Given the description of an element on the screen output the (x, y) to click on. 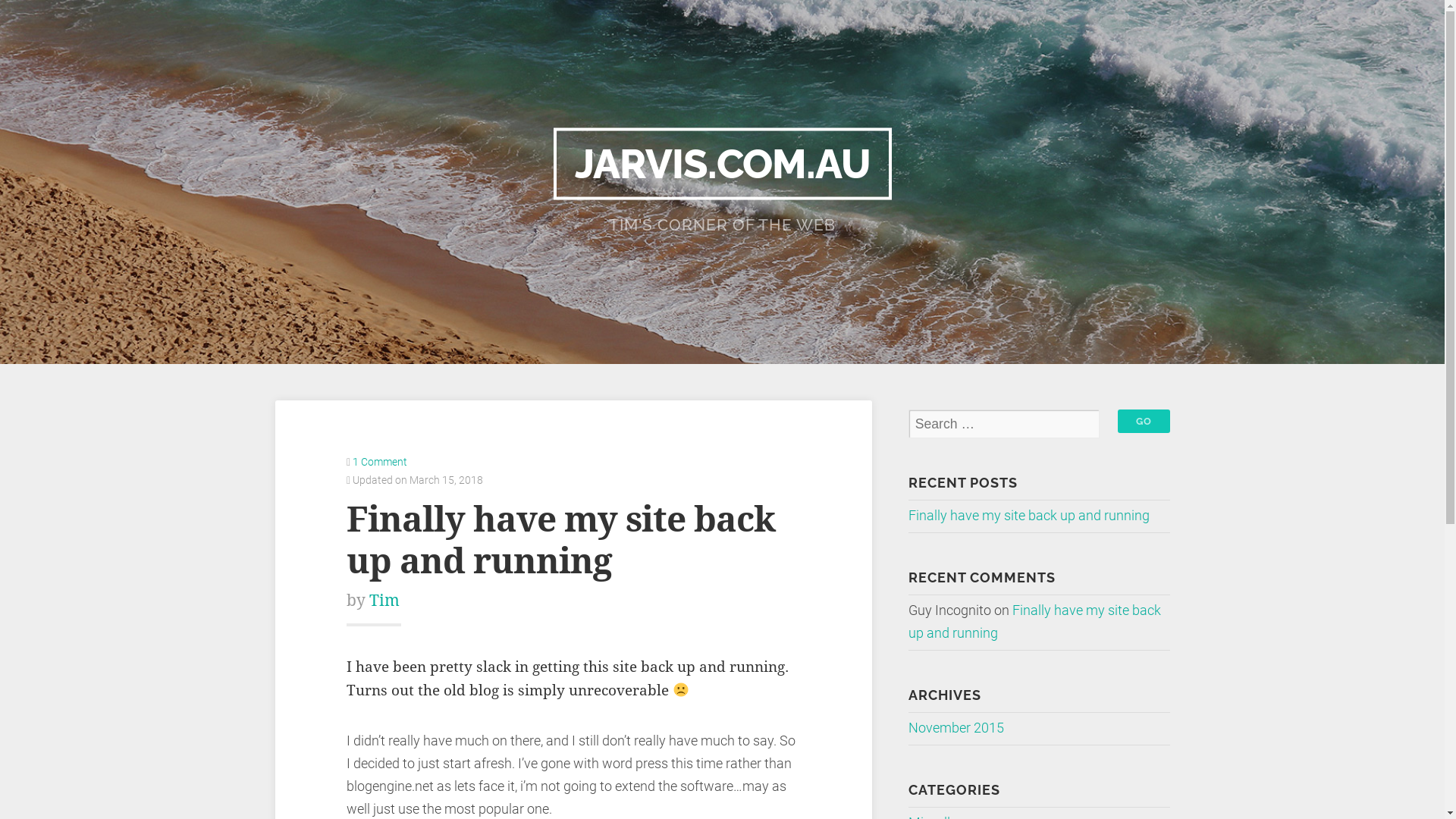
Go Element type: text (1143, 421)
Finally have my site back up and running Element type: text (1028, 515)
Tim Element type: text (384, 599)
November 2015 Element type: text (956, 727)
Finally have my site back up and running Element type: text (560, 539)
Finally have my site back up and running Element type: text (1034, 621)
JARVIS.COM.AU Element type: text (722, 164)
1 Comment Element type: text (379, 461)
